Given the description of an element on the screen output the (x, y) to click on. 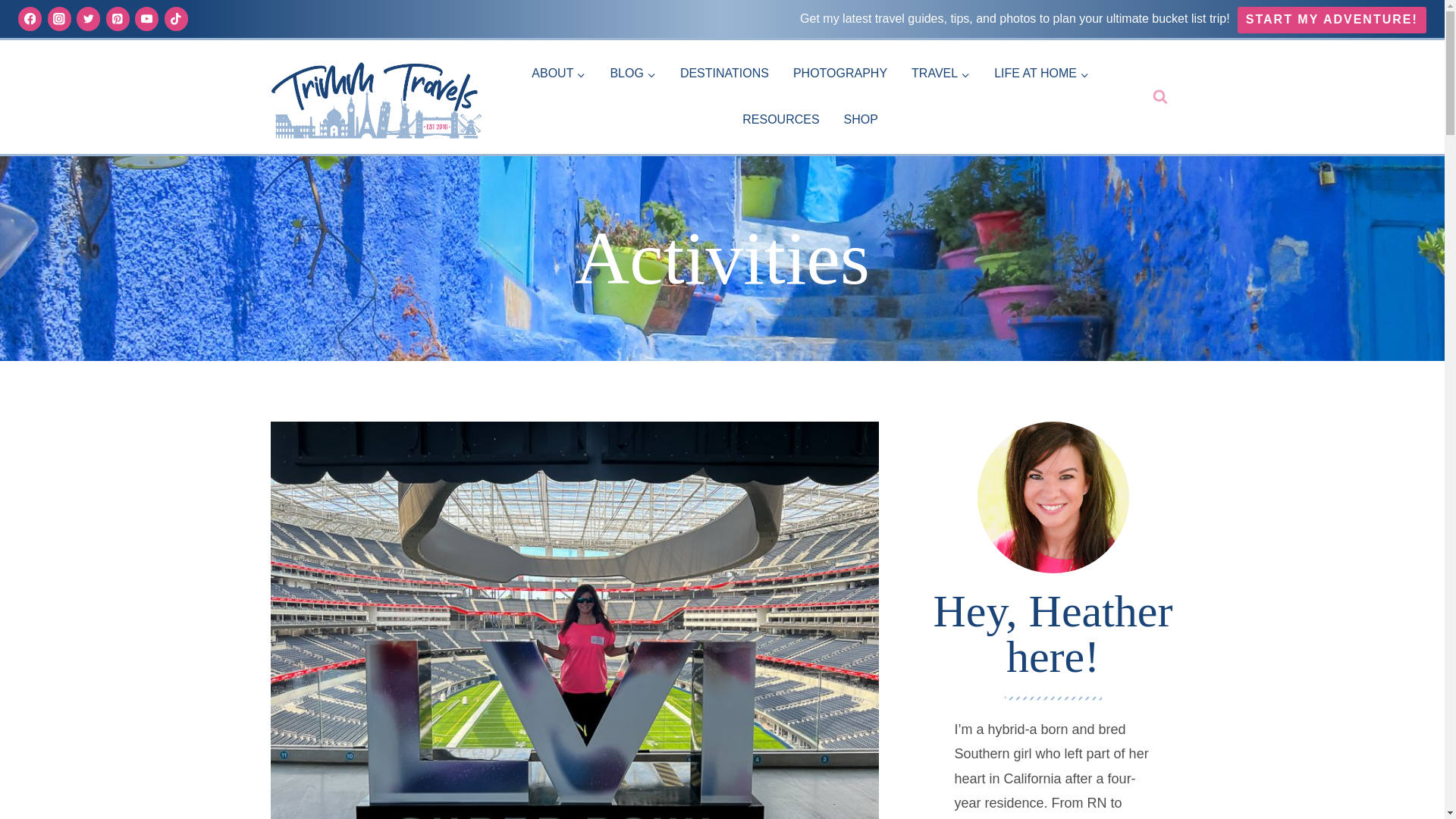
BLOG (631, 73)
ABOUT (557, 73)
PHOTOGRAPHY (839, 73)
RESOURCES (780, 120)
TRAVEL (940, 73)
SHOP (860, 120)
DESTINATIONS (724, 73)
LIFE AT HOME (1040, 73)
START MY ADVENTURE! (1331, 18)
